Given the description of an element on the screen output the (x, y) to click on. 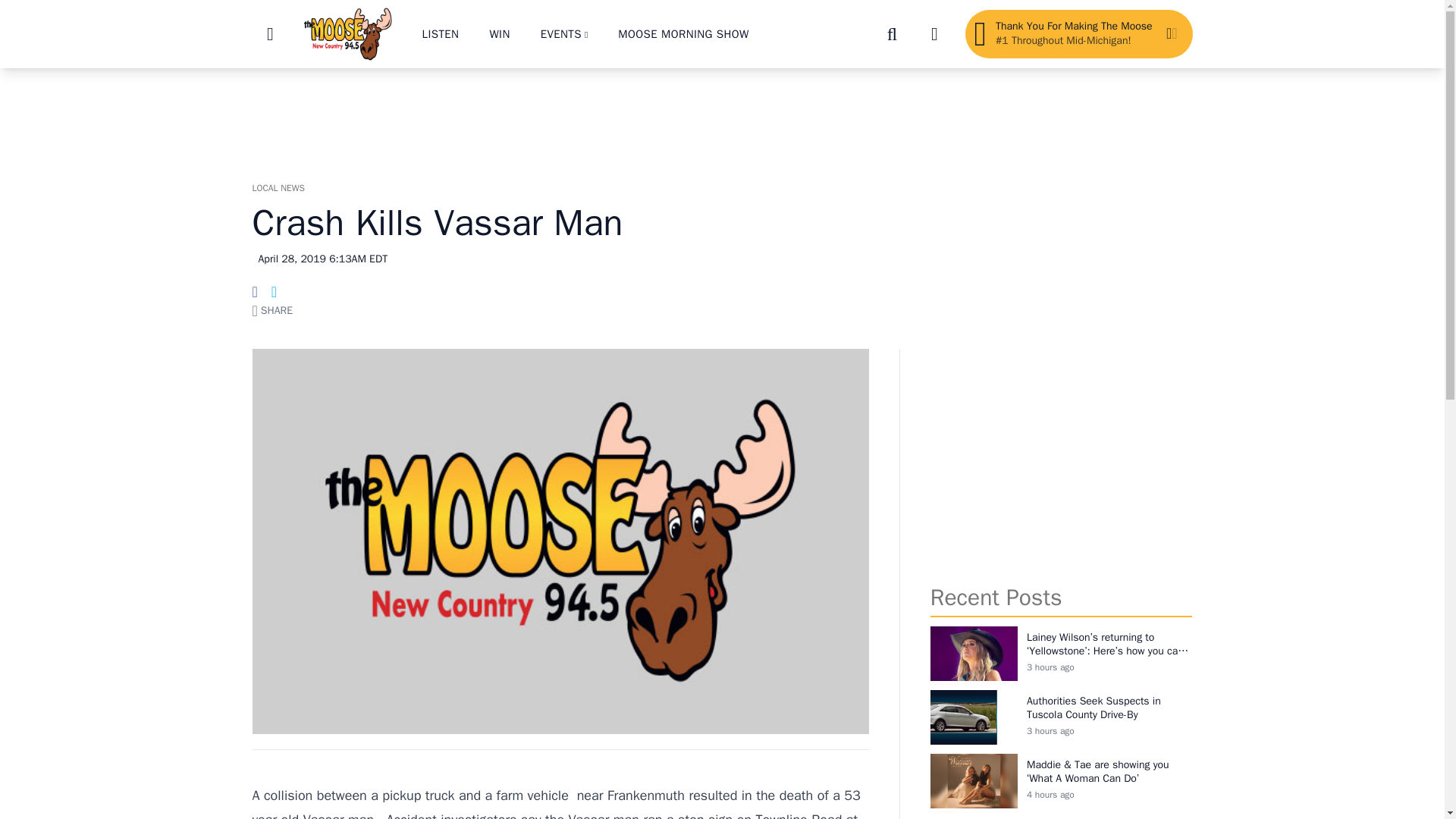
94.5 The Moose (346, 33)
3rd party ad content (1060, 458)
3rd party ad content (721, 117)
